Given the description of an element on the screen output the (x, y) to click on. 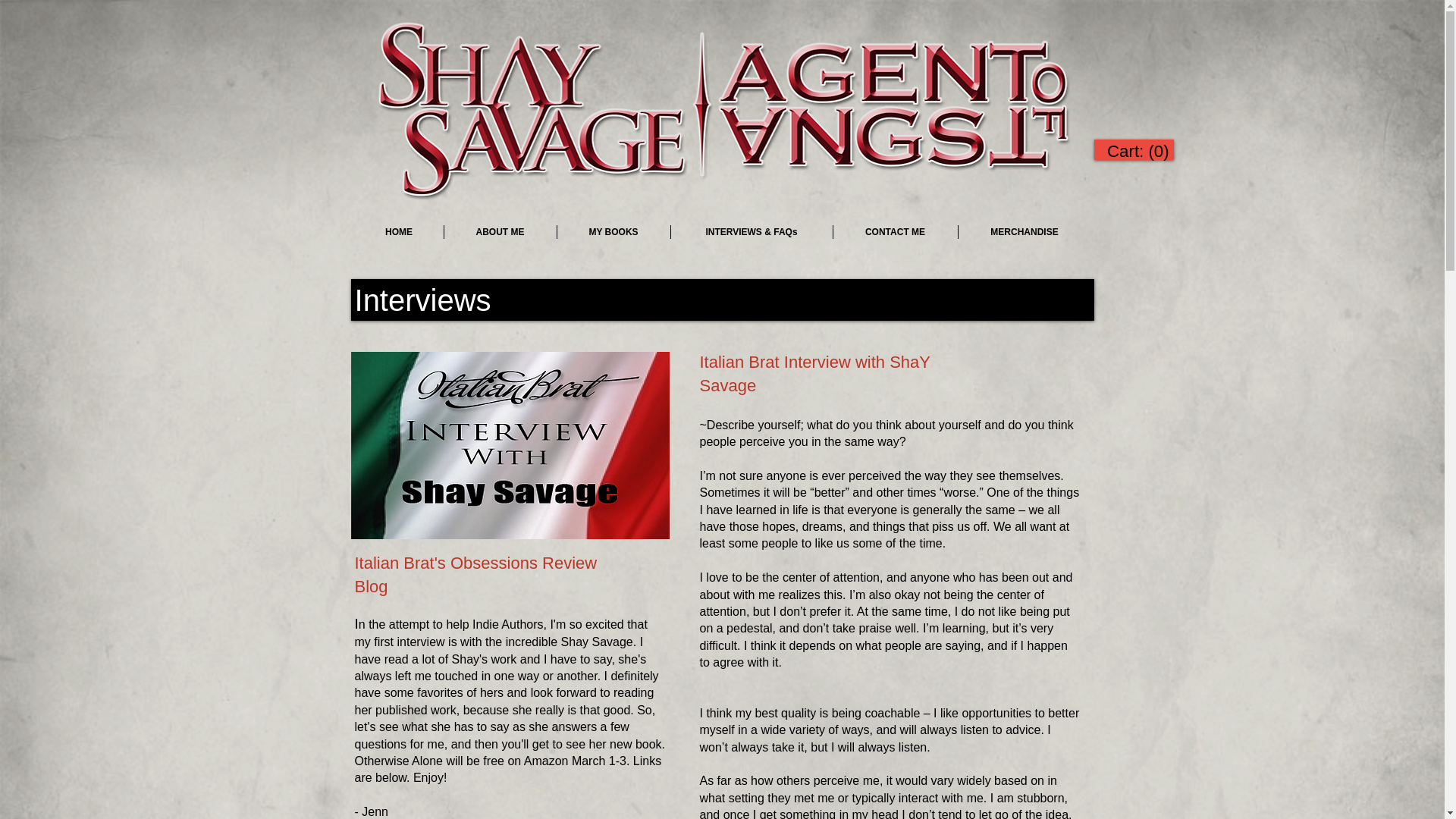
Italian Brat's Obsessions Review Blog (475, 577)
MERCHANDISE (1024, 232)
HOME (399, 232)
ABOUT ME (500, 232)
MY BOOKS (612, 232)
CONTACT ME (894, 232)
